Given the description of an element on the screen output the (x, y) to click on. 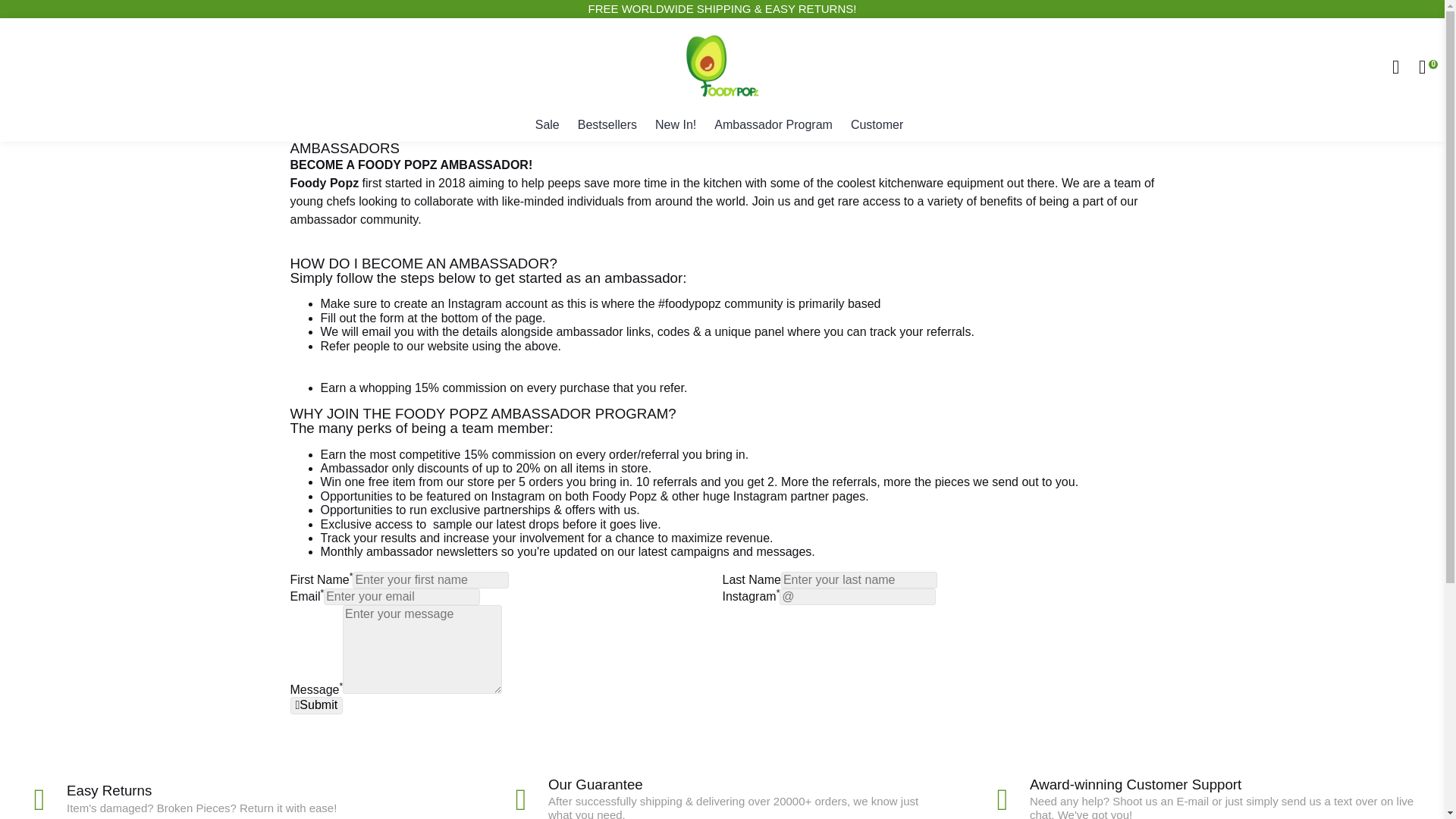
Submit (315, 704)
Ambassador Program (773, 125)
Customer (876, 125)
New In! (675, 125)
Sale (547, 125)
Bestsellers (607, 125)
